Given the description of an element on the screen output the (x, y) to click on. 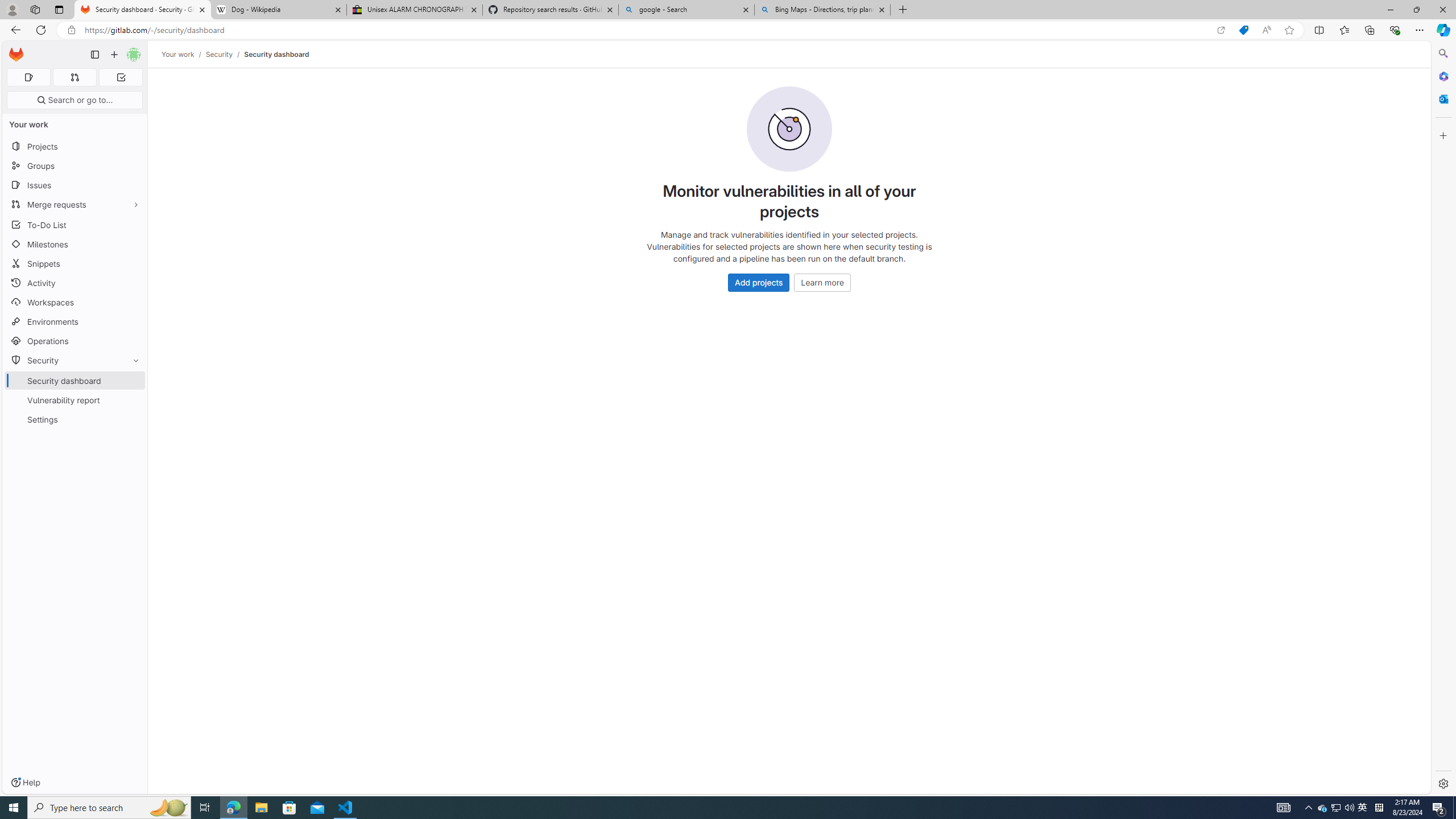
Activity (74, 282)
Security dashboard (276, 53)
To-Do List (74, 224)
Groups (74, 165)
Security dashboard (276, 53)
To-Do List (74, 224)
Milestones (74, 244)
